Given the description of an element on the screen output the (x, y) to click on. 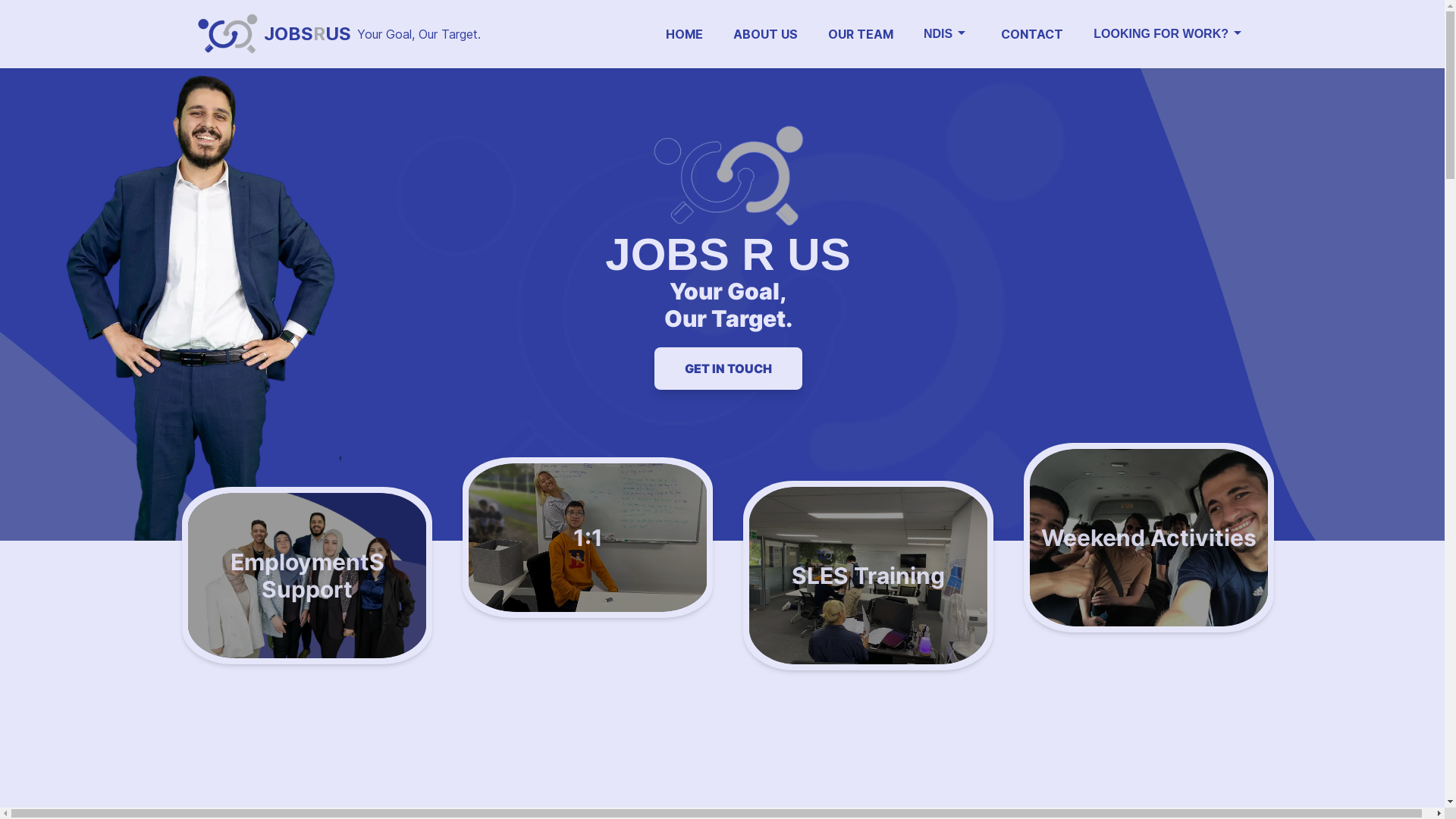
OUR TEAM Element type: text (860, 33)
GET IN TOUCH Element type: text (727, 368)
EmploymentS Support Element type: text (307, 575)
CONTACT Element type: text (1032, 33)
Weekend Activities Element type: text (1148, 537)
SLES Training Element type: text (868, 575)
ABOUT US Element type: text (765, 33)
GET IN TOUCH Element type: text (727, 368)
1:1 Element type: text (587, 537)
HOME Element type: text (683, 33)
